Given the description of an element on the screen output the (x, y) to click on. 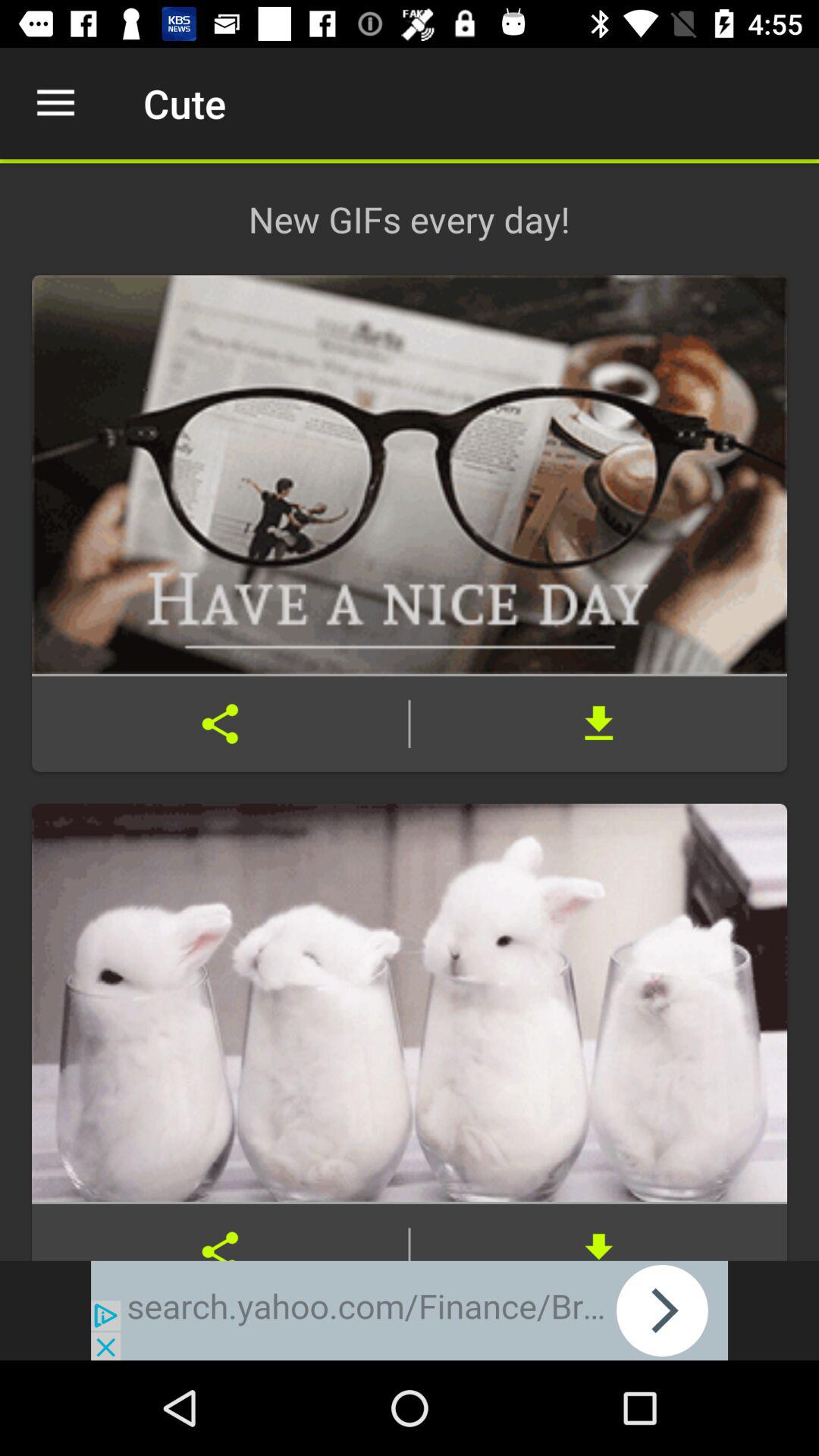
share (219, 723)
